Given the description of an element on the screen output the (x, y) to click on. 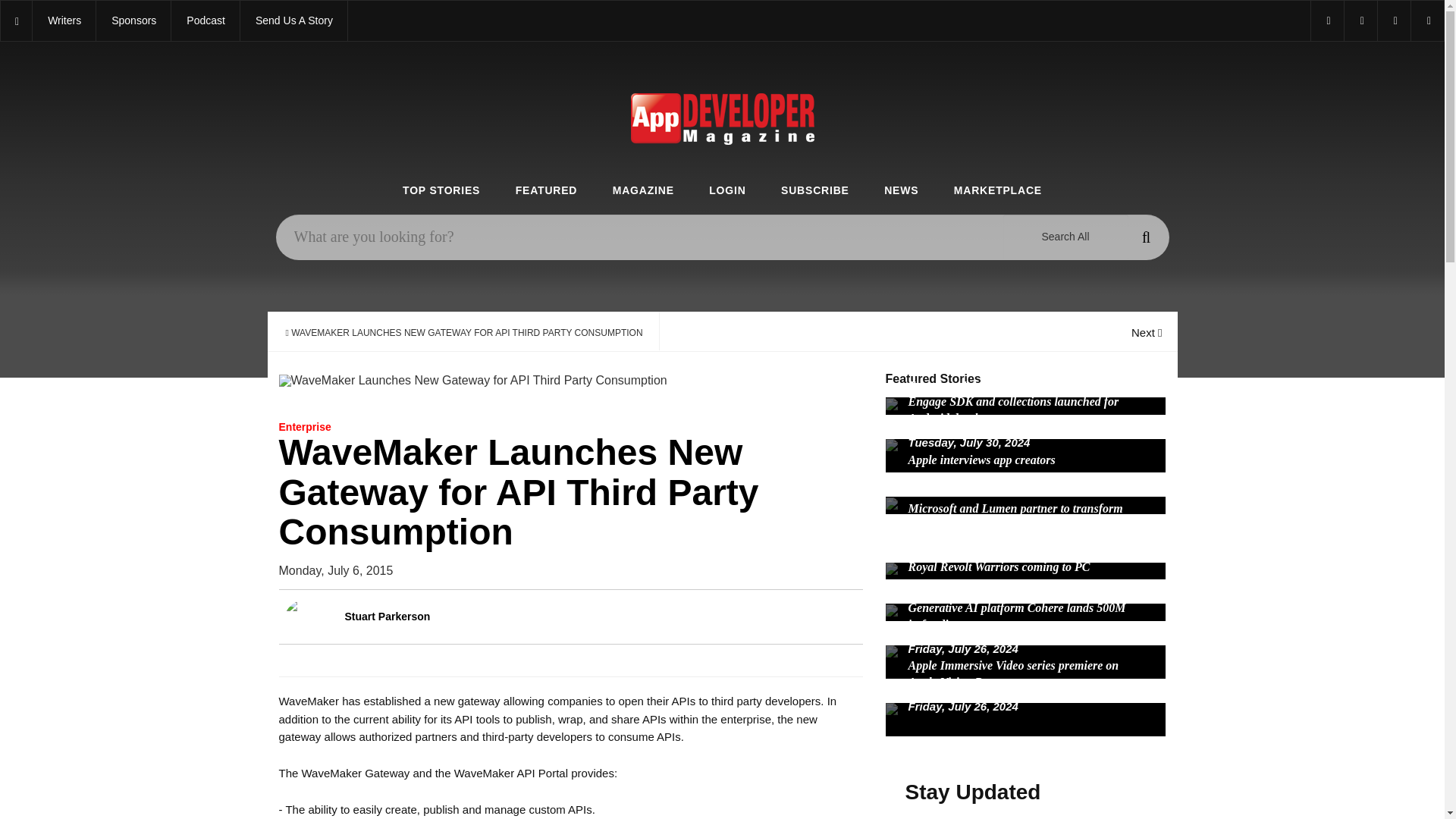
Our Writers (64, 20)
NEWS (900, 190)
Podcast (205, 20)
Writers (64, 20)
App Developer Magazine (205, 20)
Send Us A Story (293, 20)
TOP STORIES (441, 190)
LOGIN (727, 190)
MAGAZINE (643, 190)
App Developer Magazine Sponsors (133, 20)
FEATURED (546, 190)
Sponsors (133, 20)
SUBSCRIBE (814, 190)
Submit App News or Press Release (293, 20)
